Given the description of an element on the screen output the (x, y) to click on. 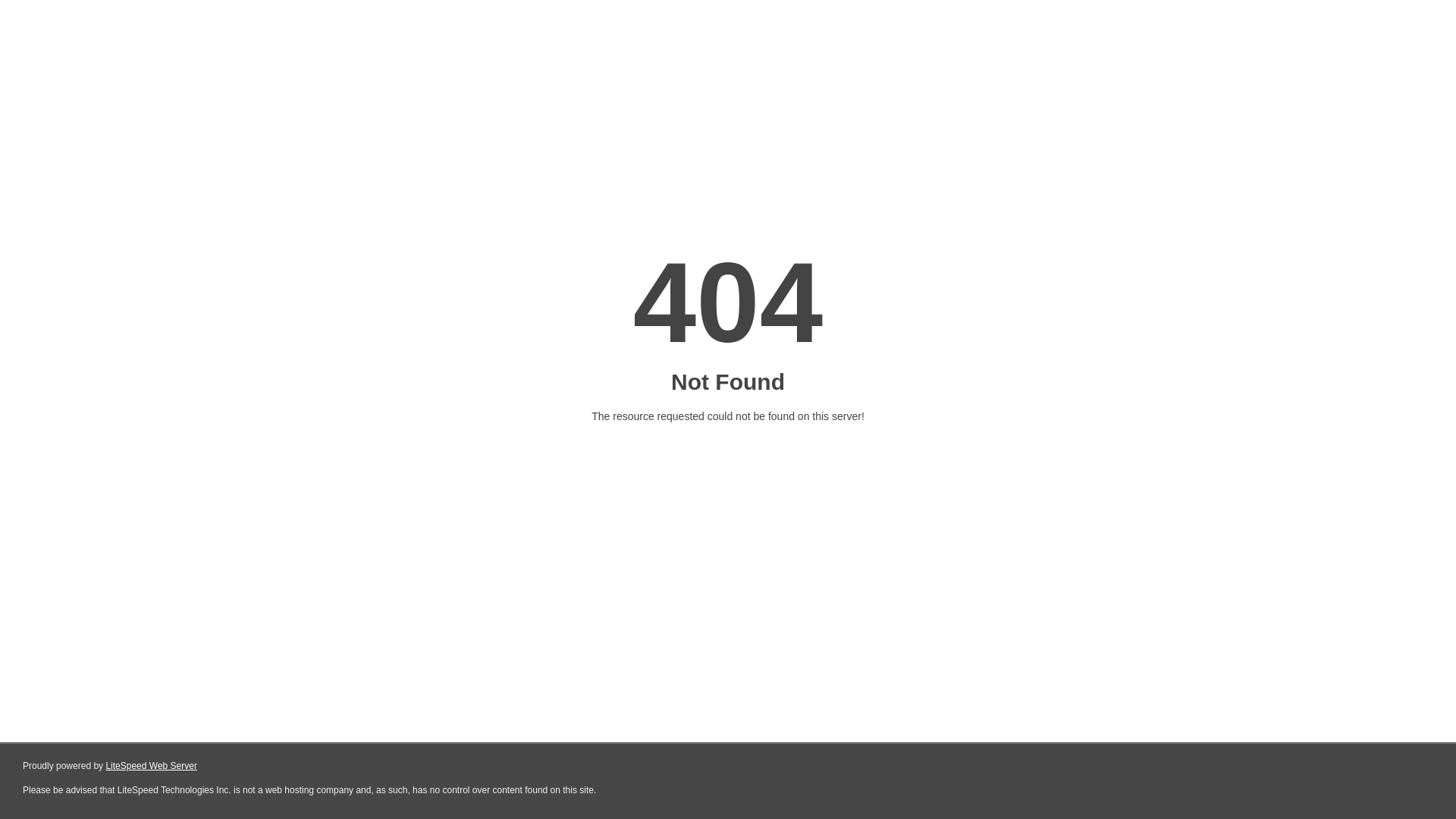
LiteSpeed Web Server Element type: text (151, 765)
